Given the description of an element on the screen output the (x, y) to click on. 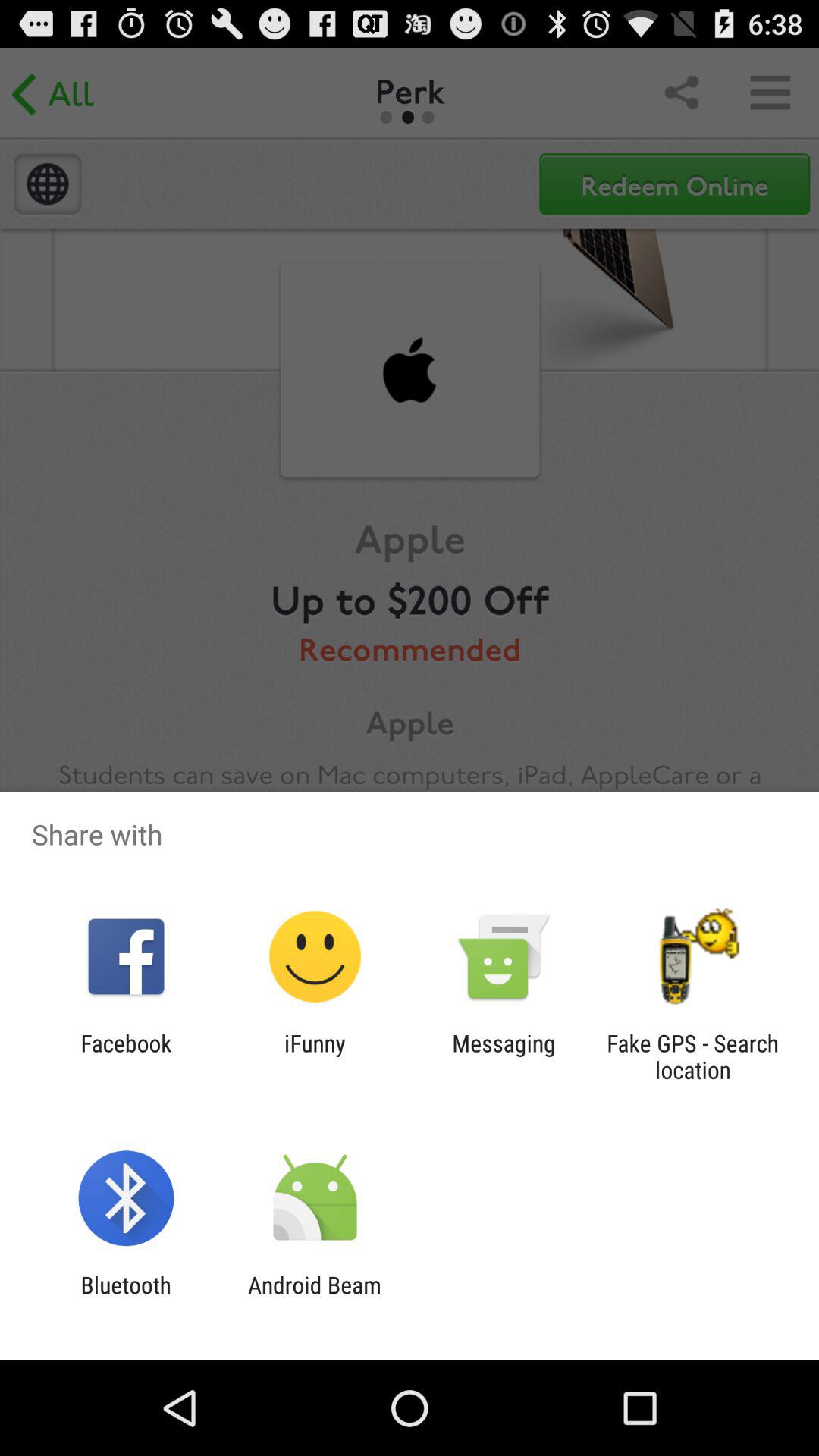
select the app to the right of the ifunny (503, 1056)
